Given the description of an element on the screen output the (x, y) to click on. 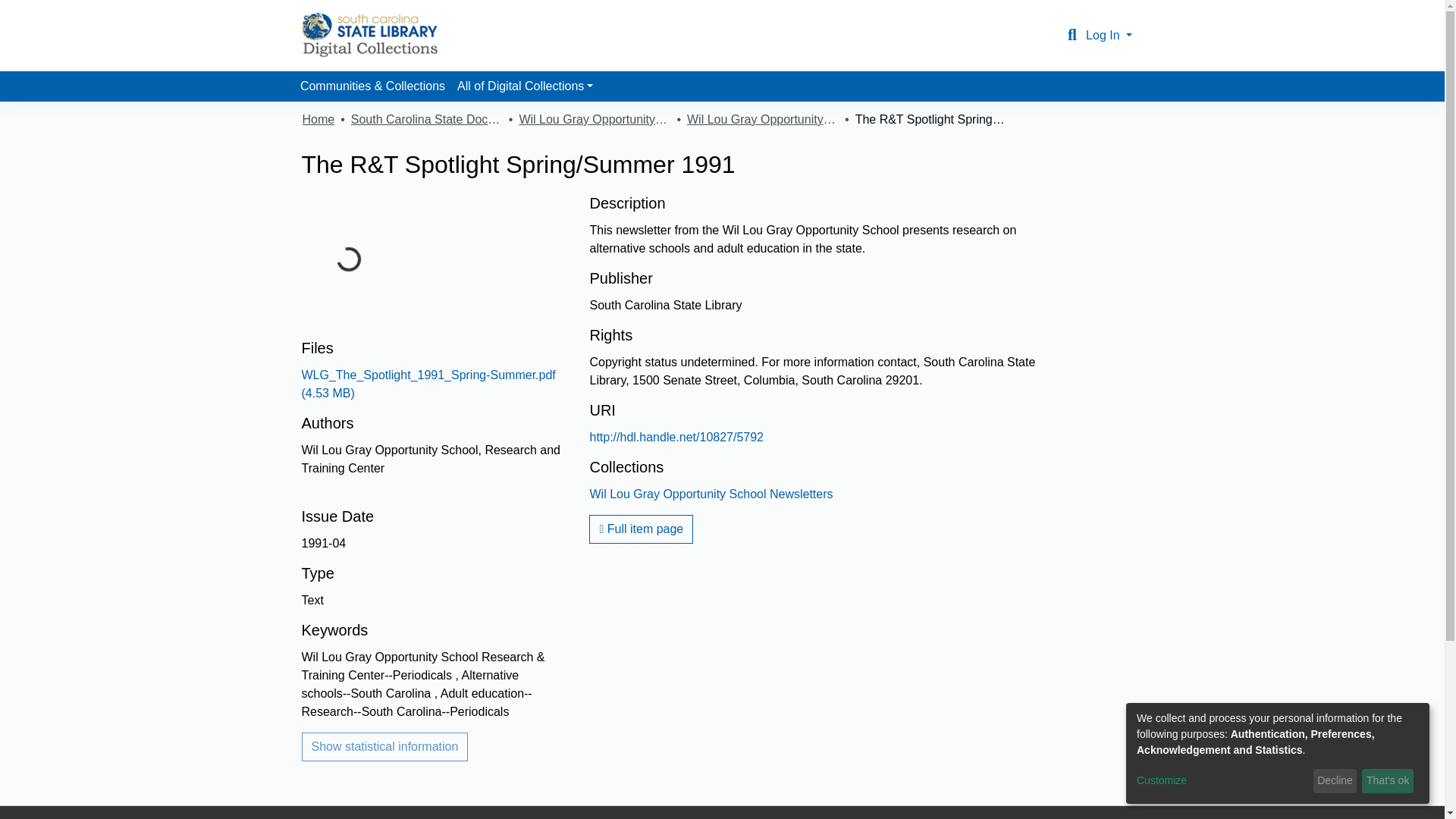
Decline (1334, 781)
That's ok (1387, 781)
Wil Lou Gray Opportunity School Newsletters (710, 493)
Full item page (641, 529)
Customize (1222, 780)
Home (317, 119)
Wil Lou Gray Opportunity School Newsletters (762, 119)
Log In (1108, 34)
All of Digital Collections (524, 86)
Show statistical information (384, 746)
